Given the description of an element on the screen output the (x, y) to click on. 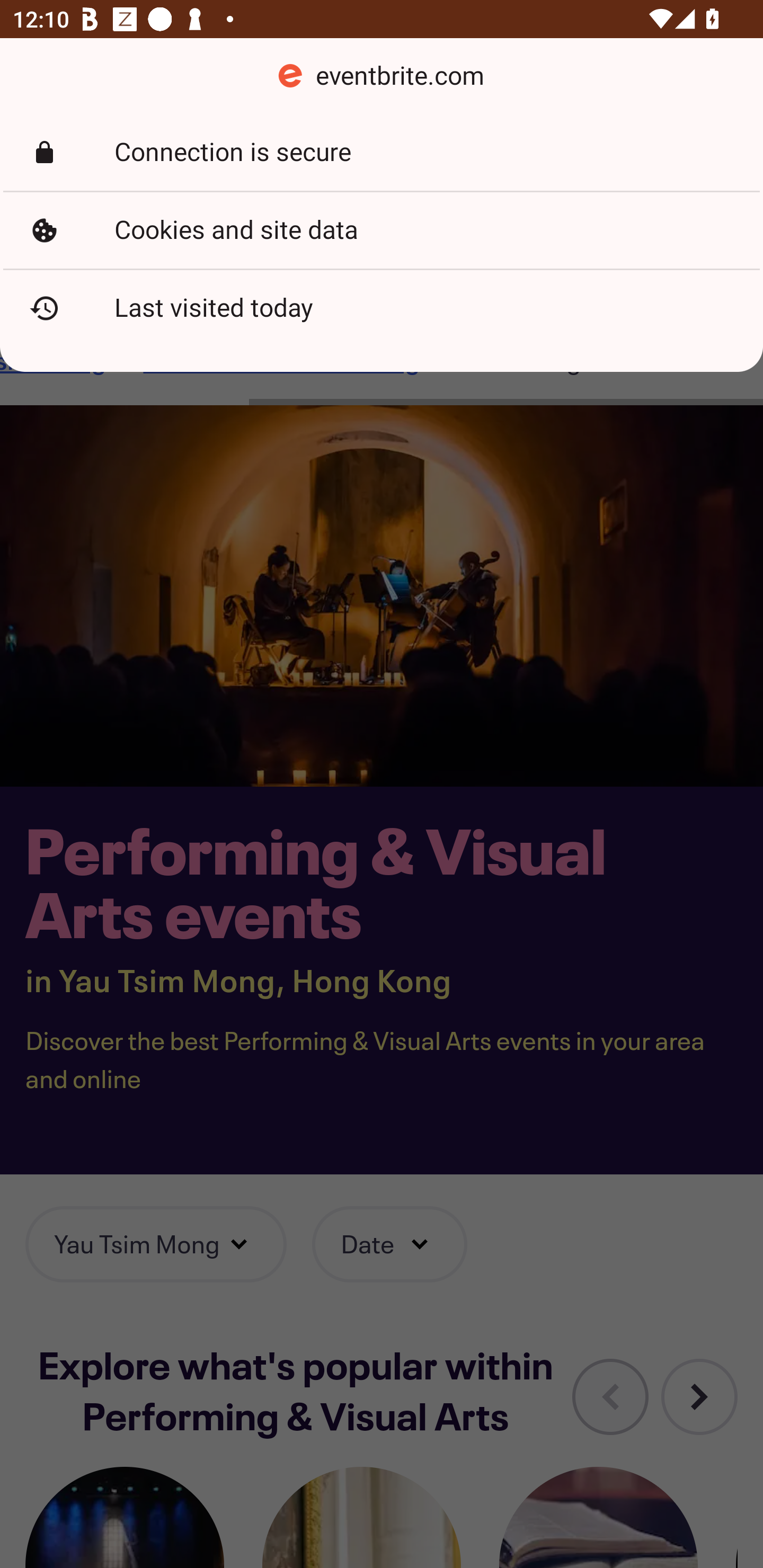
eventbrite.com (381, 75)
Connection is secure (381, 152)
Cookies and site data (381, 230)
Last visited today (381, 307)
